Given the description of an element on the screen output the (x, y) to click on. 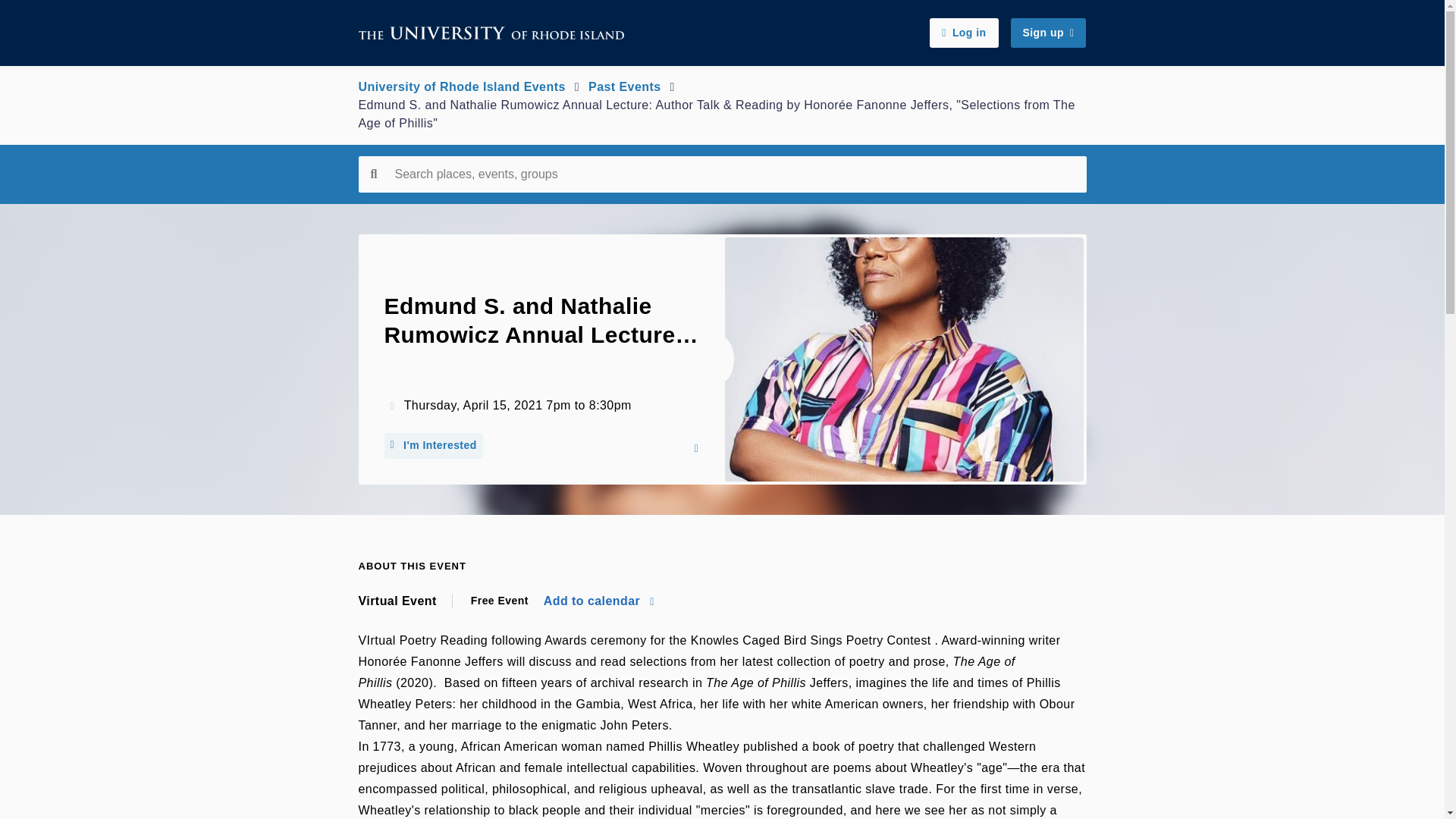
Sign up (1048, 33)
University of Rhode Island Events (461, 86)
I'm Interested (432, 445)
Add to calendar (598, 601)
Past Events (624, 86)
Log in (963, 33)
